Given the description of an element on the screen output the (x, y) to click on. 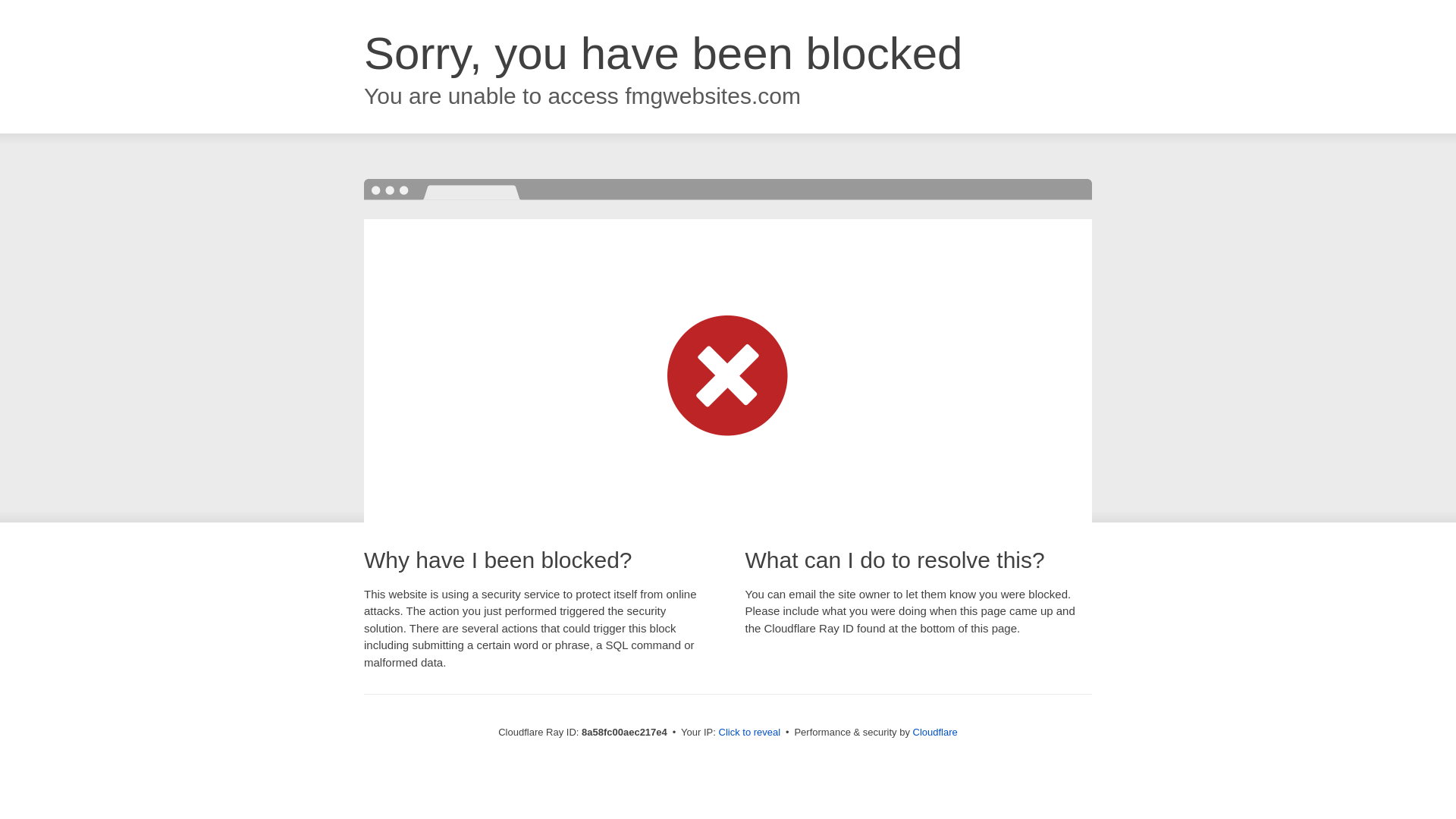
Click to reveal (749, 732)
Cloudflare (935, 731)
